Given the description of an element on the screen output the (x, y) to click on. 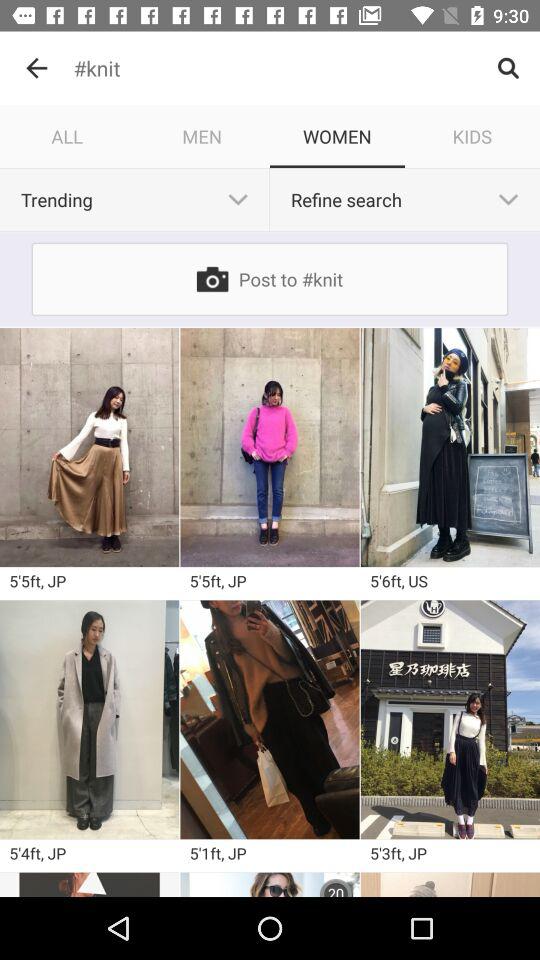
select item next to the women icon (202, 136)
